Given the description of an element on the screen output the (x, y) to click on. 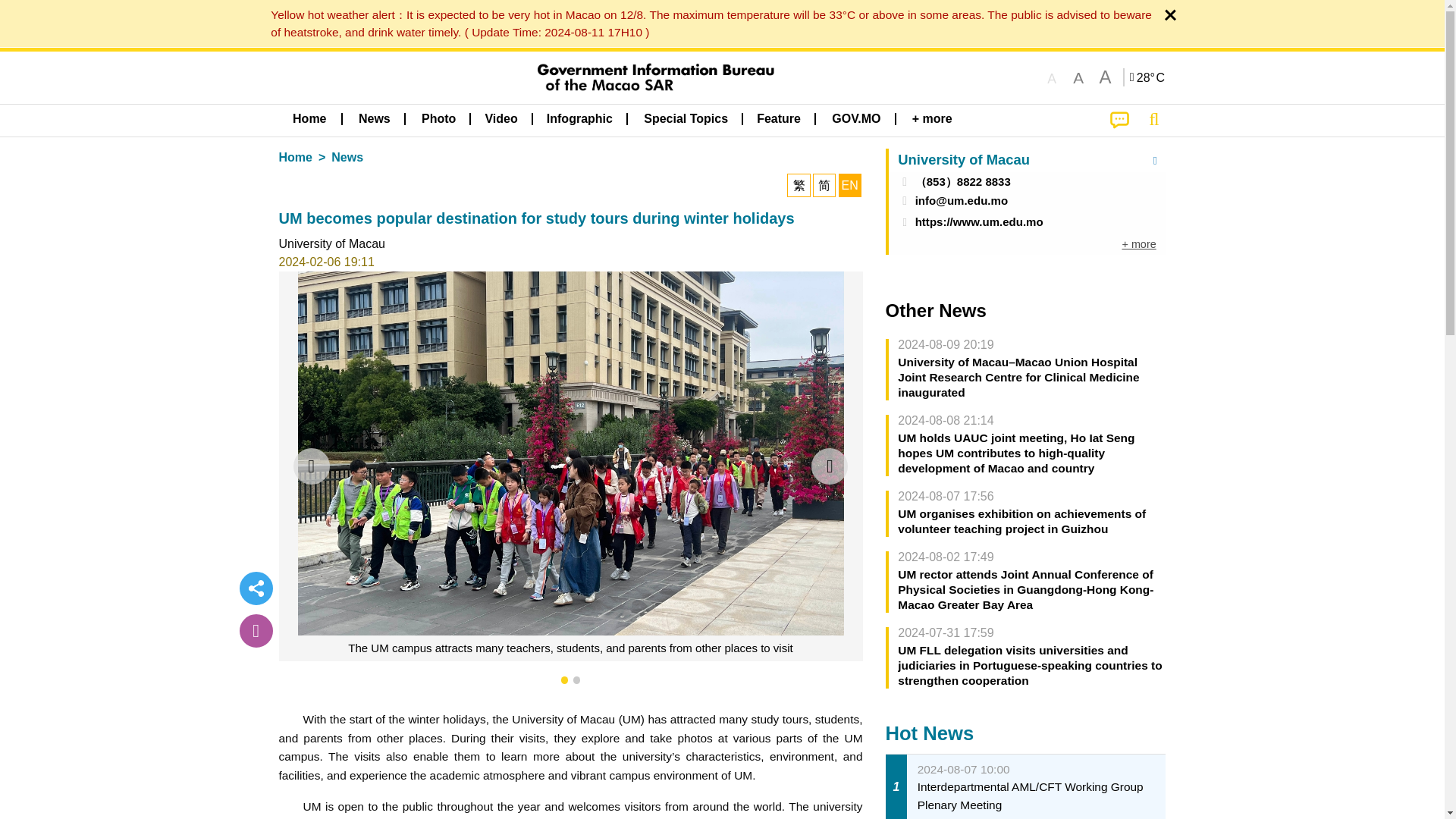
Home (309, 118)
Suggestions (1118, 120)
A (1051, 76)
Special Info (708, 23)
Special Info (1147, 77)
A (1104, 76)
A (1077, 76)
